Given the description of an element on the screen output the (x, y) to click on. 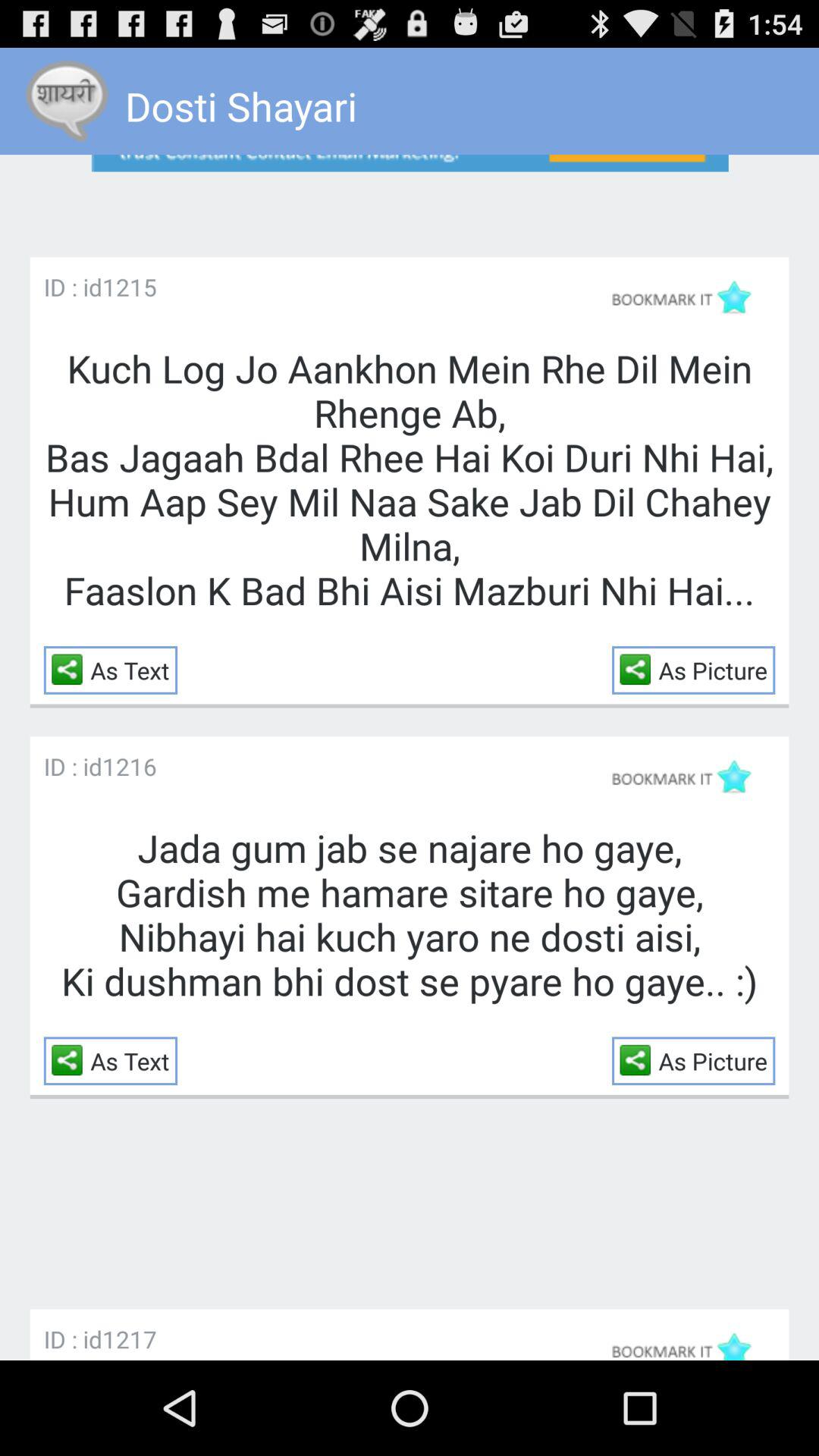
bookmark (688, 776)
